Given the description of an element on the screen output the (x, y) to click on. 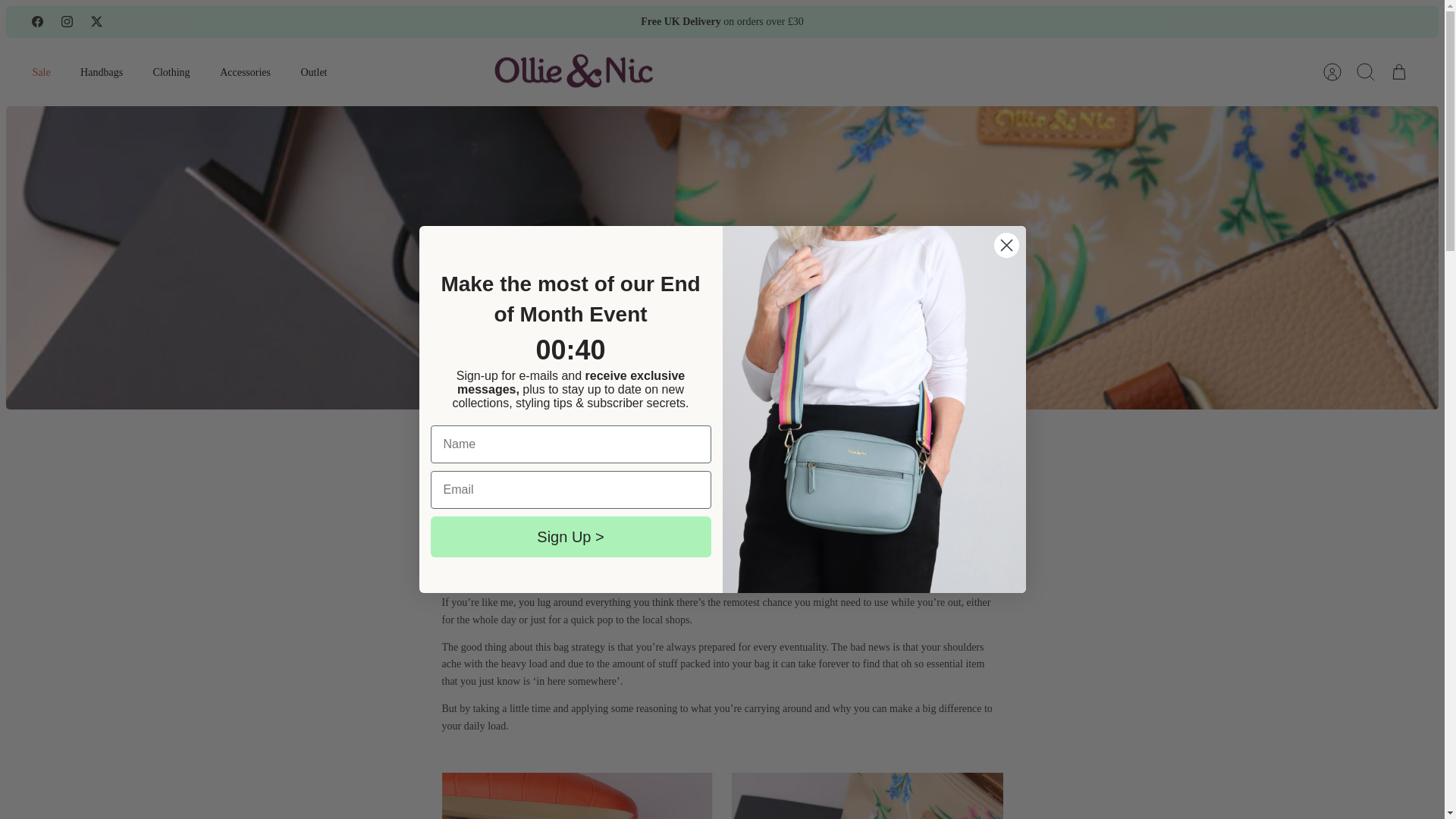
Clothing (171, 72)
Instagram (66, 21)
Close dialog 1 (1006, 244)
Sale (40, 72)
Accessories (244, 72)
Handbags (101, 72)
Instagram (66, 21)
